Given the description of an element on the screen output the (x, y) to click on. 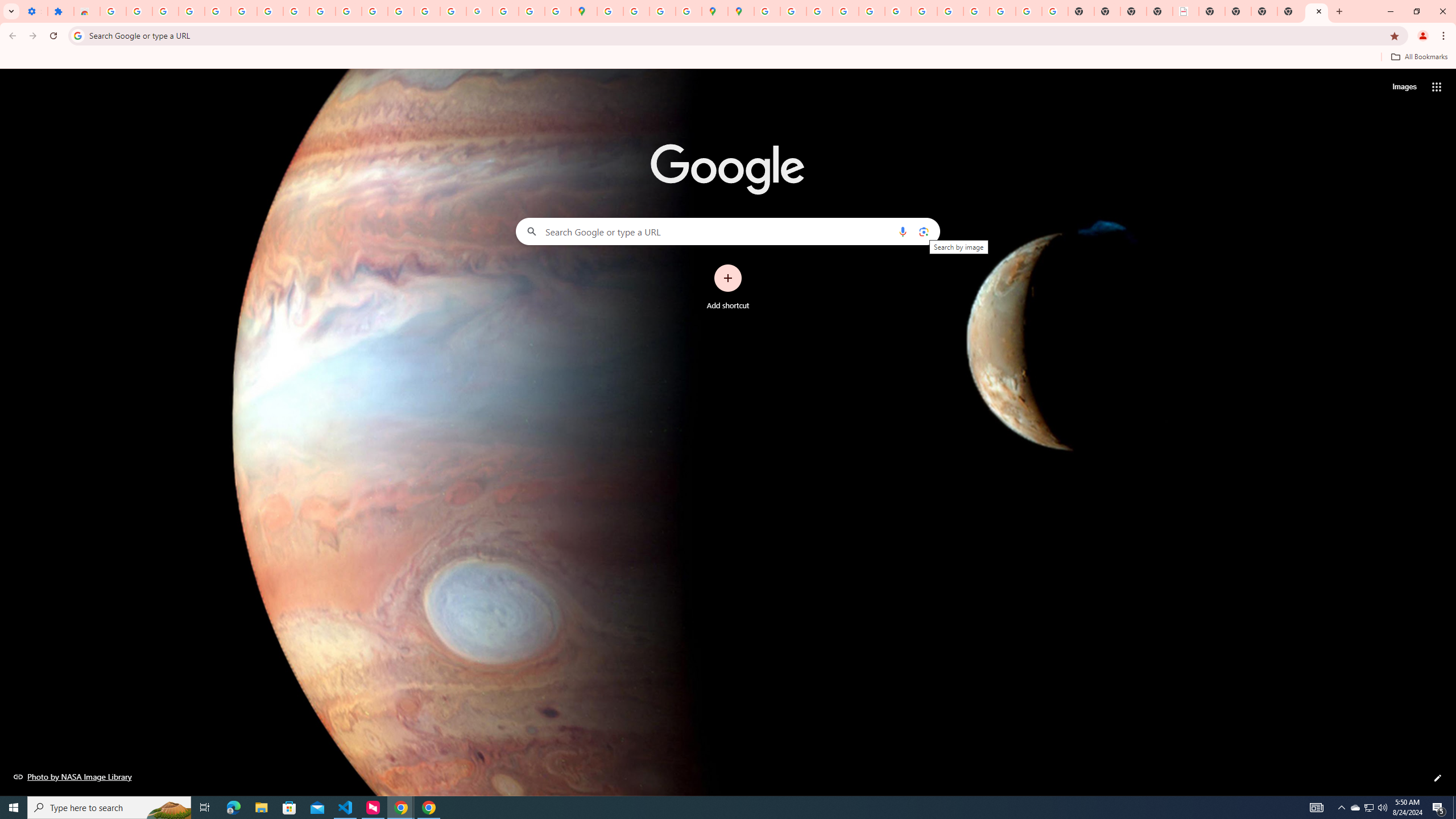
https://scholar.google.com/ (374, 11)
YouTube (923, 11)
Photo by NASA Image Library (72, 776)
Extensions (60, 11)
Sign in - Google Accounts (243, 11)
